Given the description of an element on the screen output the (x, y) to click on. 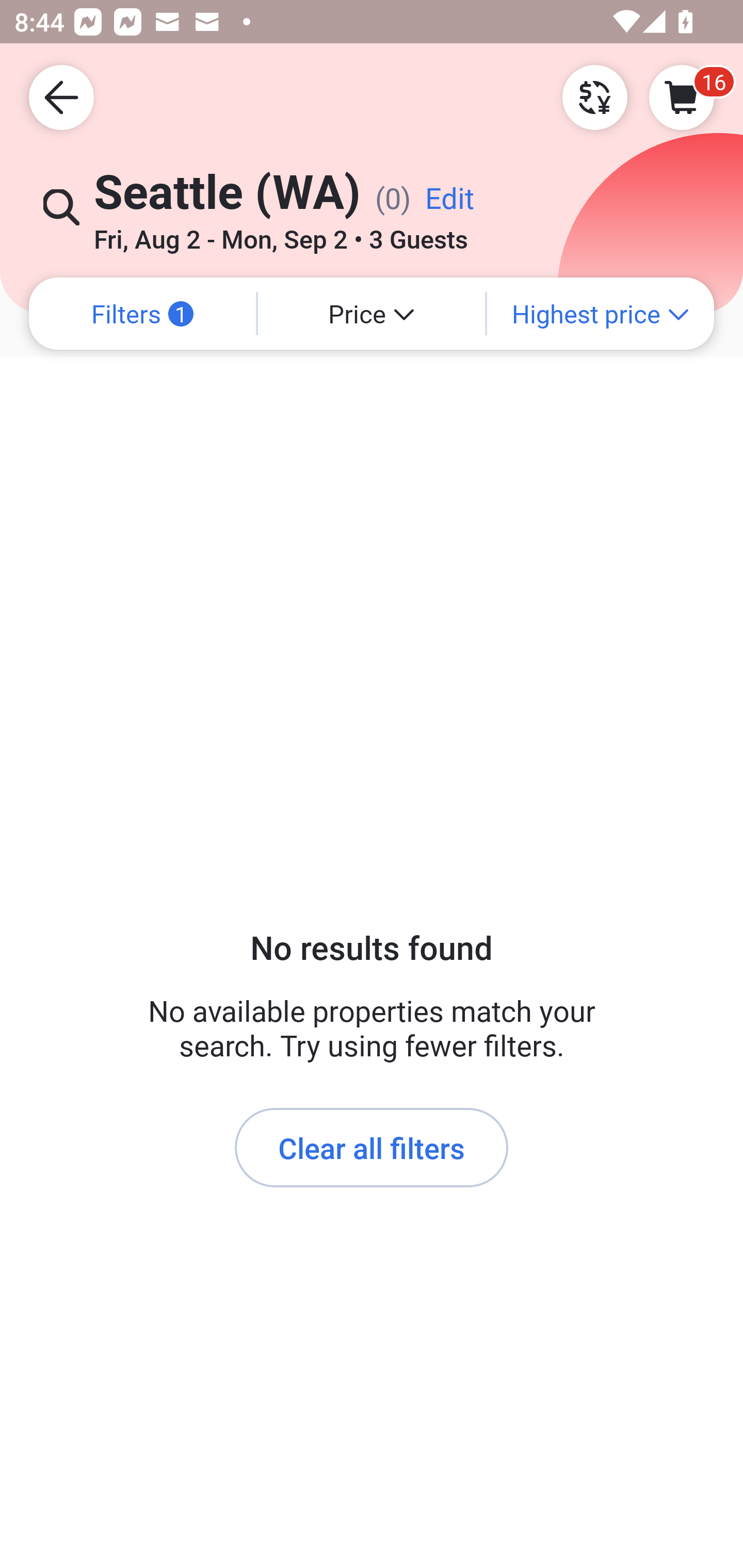
Filters 1 (141, 313)
Price (371, 313)
Highest price (600, 313)
Clear all filters (371, 1147)
